Given the description of an element on the screen output the (x, y) to click on. 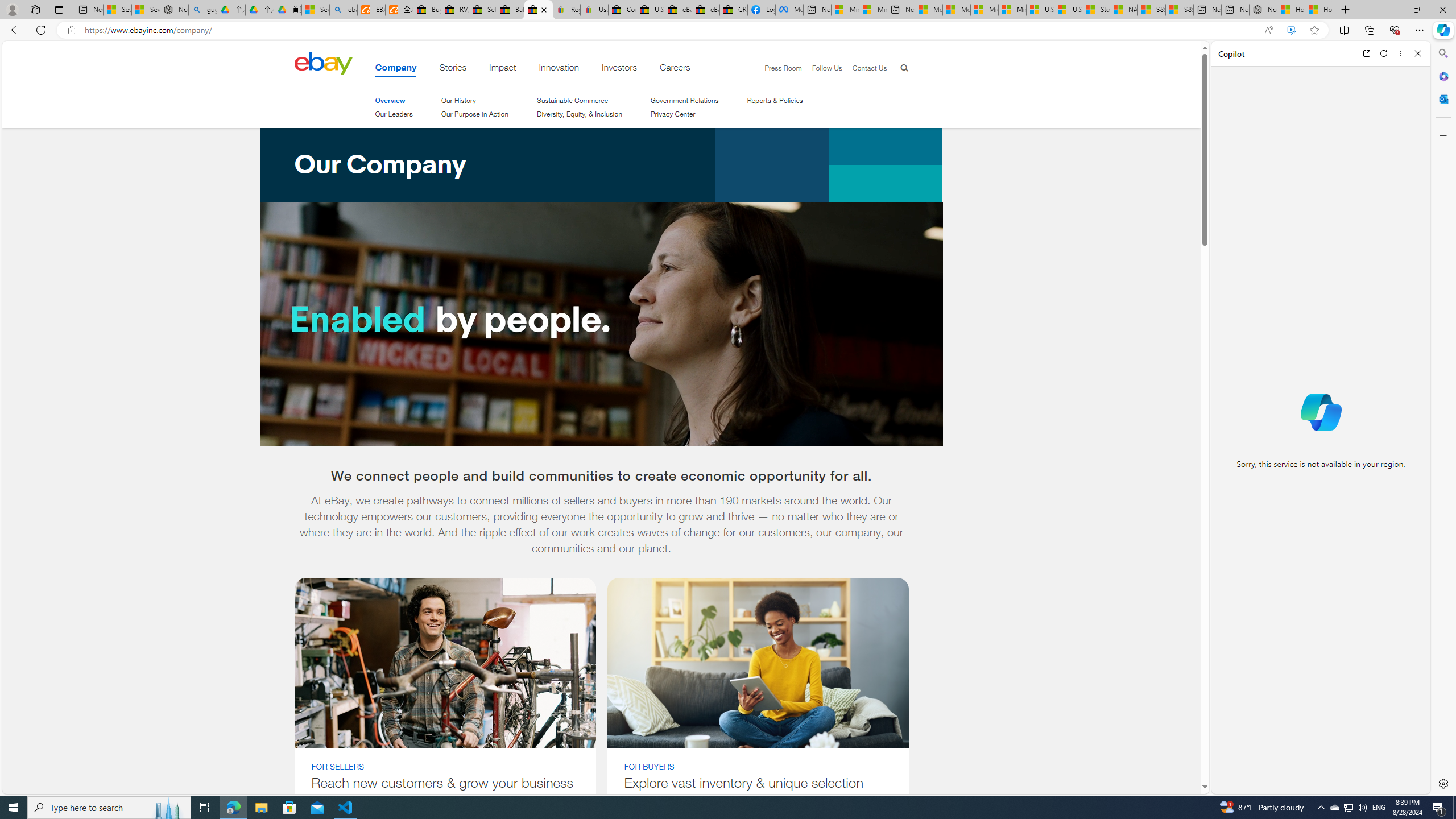
RV, Trailer & Camper Steps & Ladders for sale | eBay (454, 9)
Open link in new tab (1366, 53)
Innovation (558, 69)
Register: Create a personal eBay account (566, 9)
Impact (502, 69)
Company (395, 69)
Outlook (1442, 98)
Reports & Policies (774, 99)
Our Leaders (393, 113)
